Given the description of an element on the screen output the (x, y) to click on. 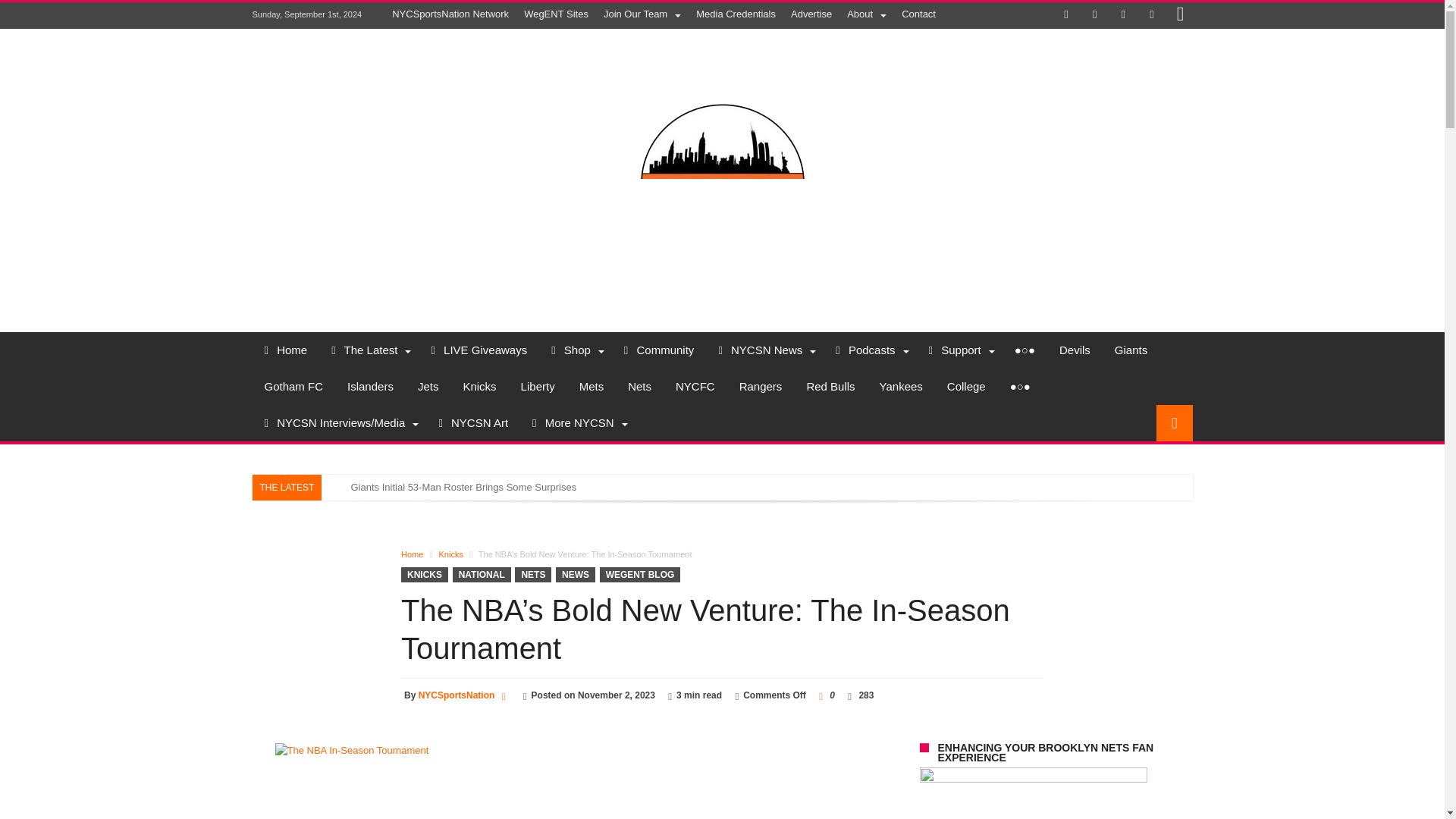
Twitter (1094, 15)
Community (658, 350)
Podcasts (869, 350)
Join Our Team (641, 14)
Facebook (1066, 15)
About (866, 14)
Shop (574, 350)
NYCSN News (765, 350)
The Latest (368, 350)
New York Sports Nation (721, 81)
